Given the description of an element on the screen output the (x, y) to click on. 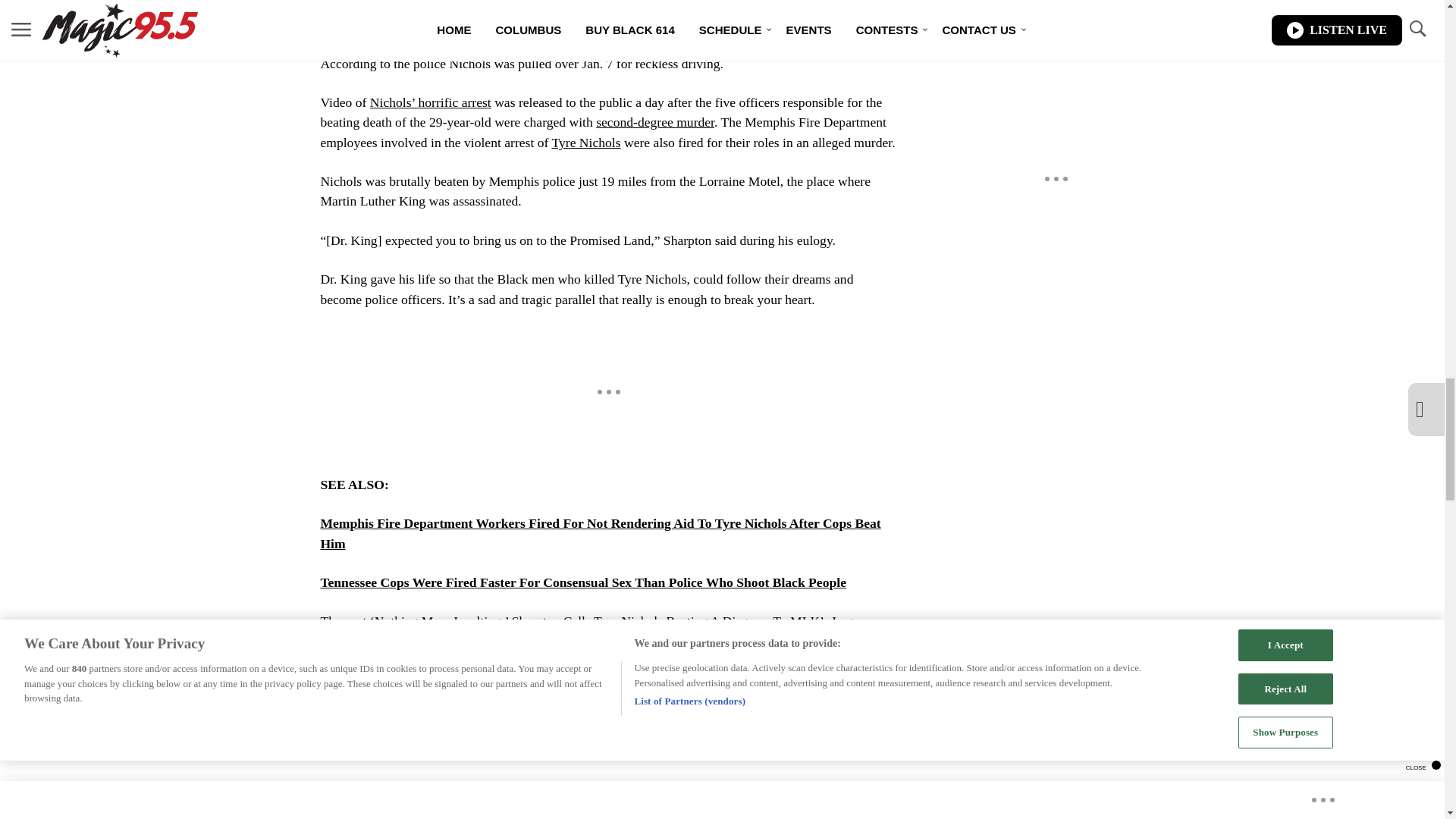
Vuukle Sharebar Widget (585, 746)
Tyre Nichols (585, 142)
NewsOne (439, 641)
second-degree murder (654, 121)
